Given the description of an element on the screen output the (x, y) to click on. 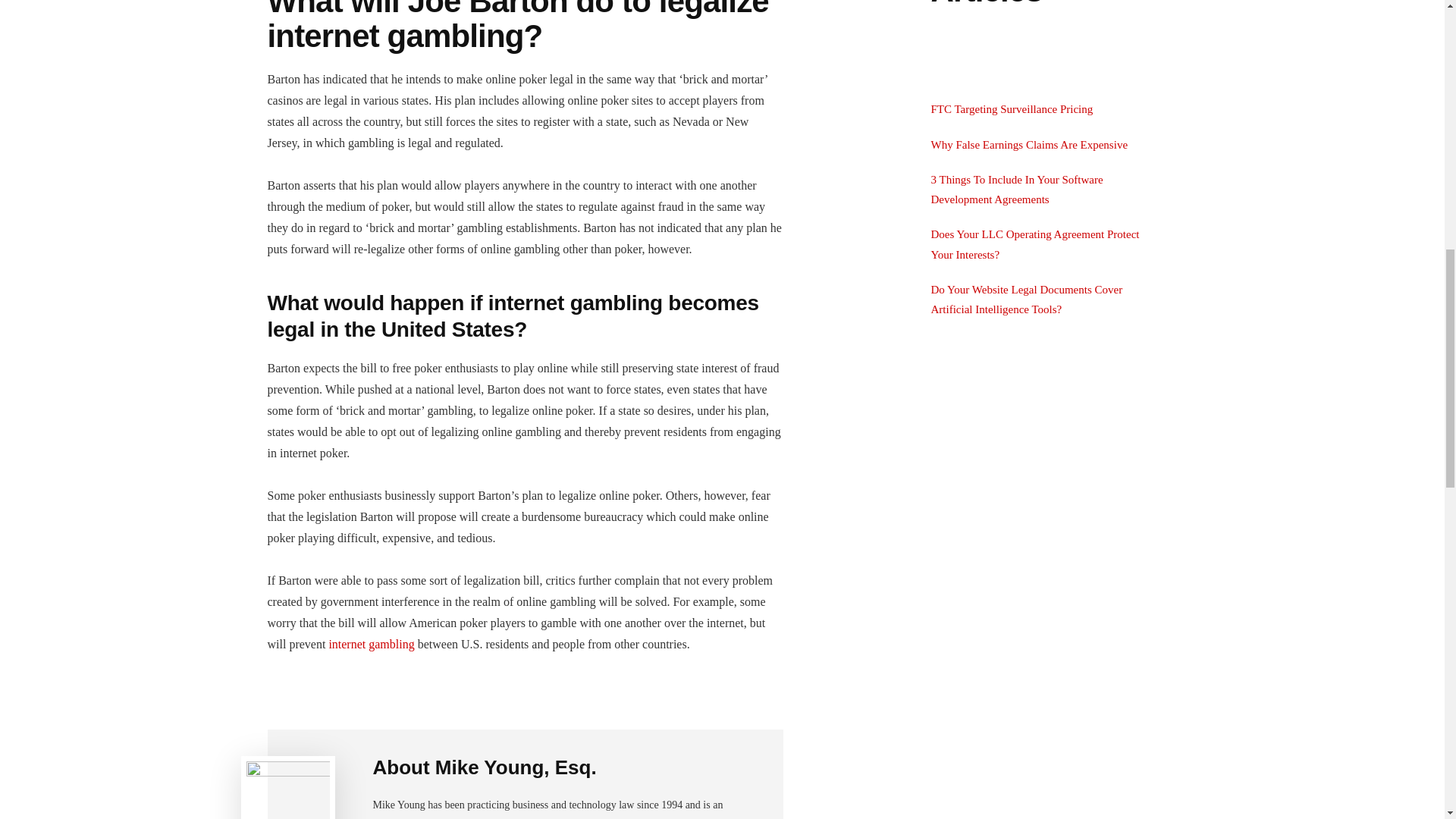
FTC Targeting Surveillance Pricing (1012, 109)
Does Your LLC Operating Agreement Protect Your Interests? (1035, 244)
internet gambling (371, 644)
3 Things To Include In Your Software Development Agreements (1017, 189)
Why False Earnings Claims Are Expensive (1029, 144)
